Given the description of an element on the screen output the (x, y) to click on. 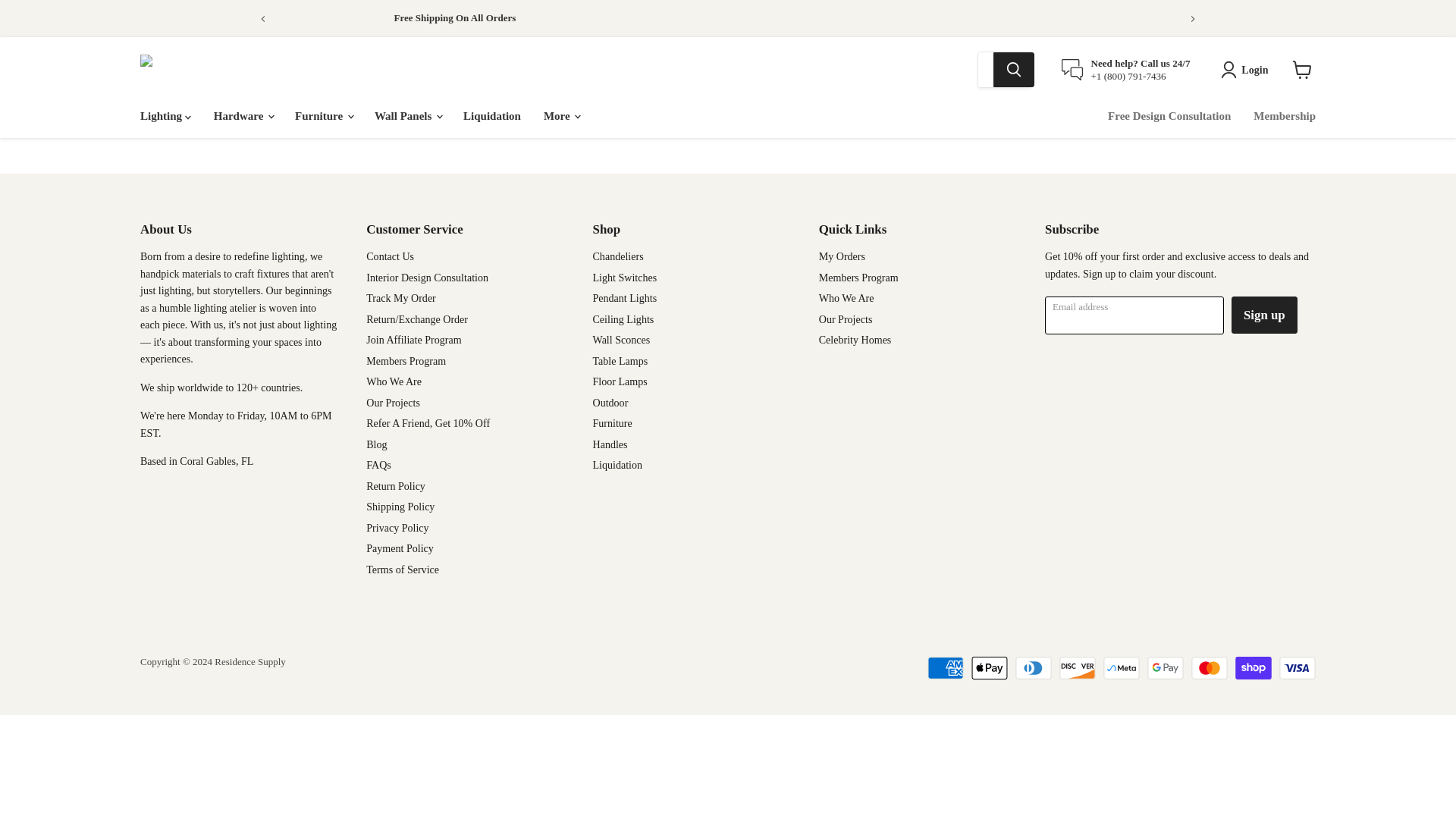
Diners Club (1032, 667)
tel:18007917436 (1128, 75)
Discover (1077, 667)
Shop Pay (1252, 667)
View cart (1302, 69)
Mastercard (1209, 667)
Google Pay (1165, 667)
Visa (1297, 667)
Meta Pay (1121, 667)
Apple Pay (989, 667)
